Given the description of an element on the screen output the (x, y) to click on. 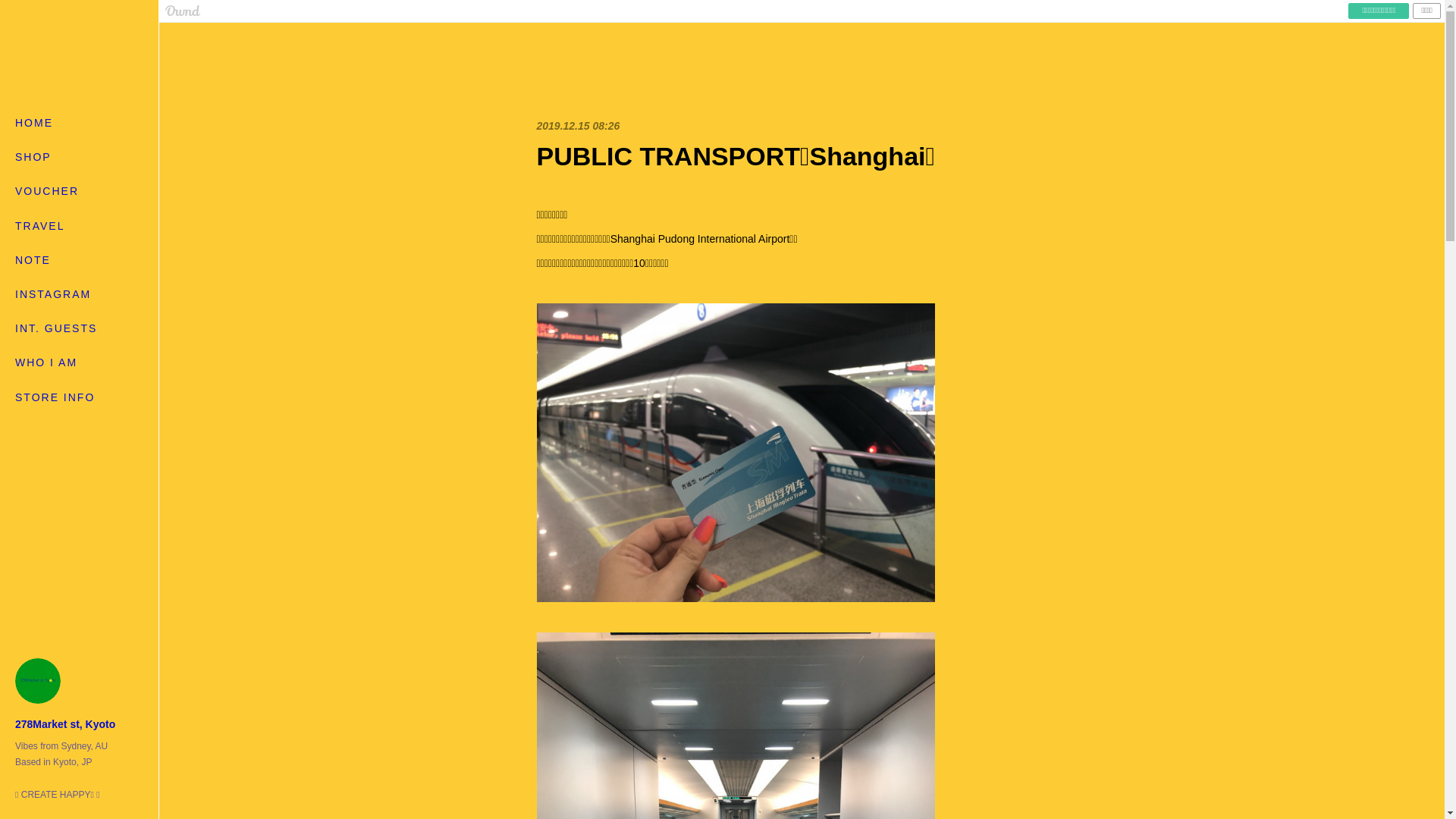
HOME Element type: text (79, 123)
NOTE Element type: text (79, 260)
INT. GUESTS Element type: text (79, 328)
VOUCHER Element type: text (79, 191)
STORE INFO Element type: text (79, 397)
SHOP Element type: text (79, 157)
TRAVEL Element type: text (79, 226)
WHO I AM Element type: text (79, 362)
INSTAGRAM Element type: text (79, 294)
